Given the description of an element on the screen output the (x, y) to click on. 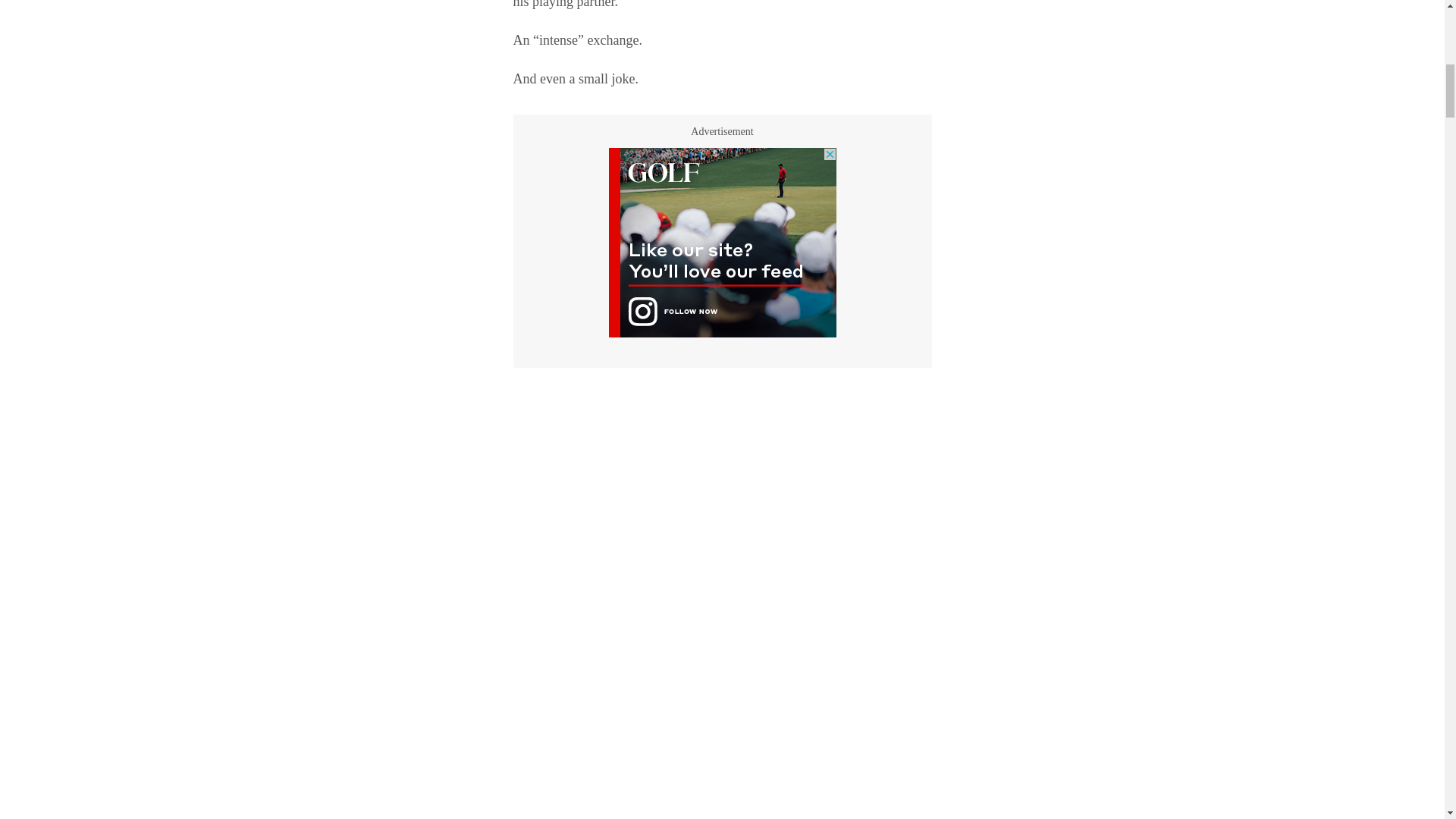
3rd party ad content (721, 242)
